Given the description of an element on the screen output the (x, y) to click on. 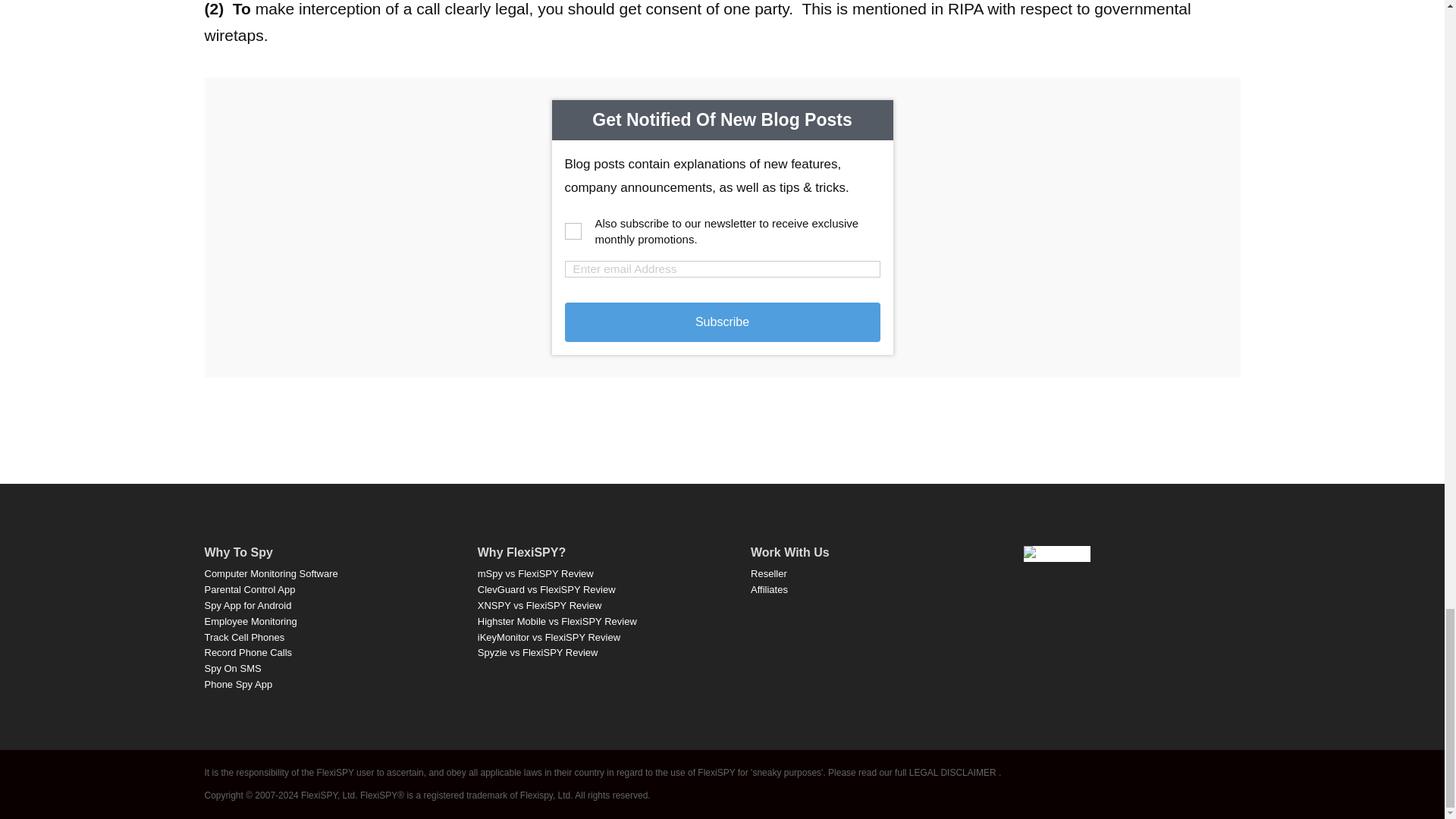
mSpy vs FlexiSPY Review (535, 573)
Phone Spy App (239, 684)
Spy App for Android (248, 604)
Track Cell Phones (245, 636)
Employee Monitoring (251, 621)
Record Phone Calls (248, 652)
Computer Monitoring Software (271, 573)
Spy On SMS (233, 668)
Parental Control App (250, 589)
